Given the description of an element on the screen output the (x, y) to click on. 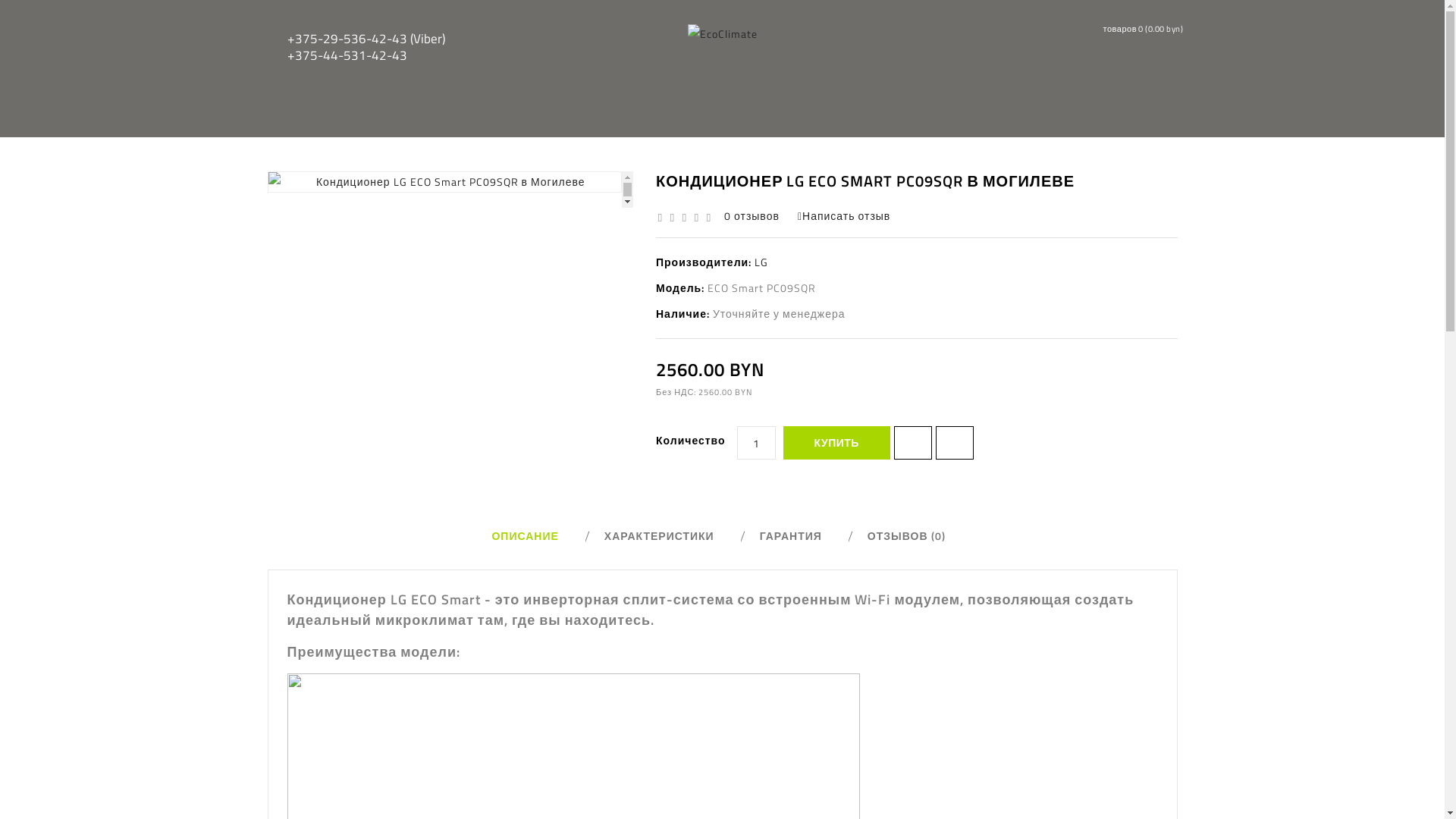
+375-44-531-42-43 Element type: text (365, 55)
  Element type: text (613, 213)
LG Element type: text (761, 261)
+375-29-536-42-43 (Viber) Element type: text (365, 38)
  Element type: text (274, 213)
EcoClimate Element type: hover (721, 33)
